Given the description of an element on the screen output the (x, y) to click on. 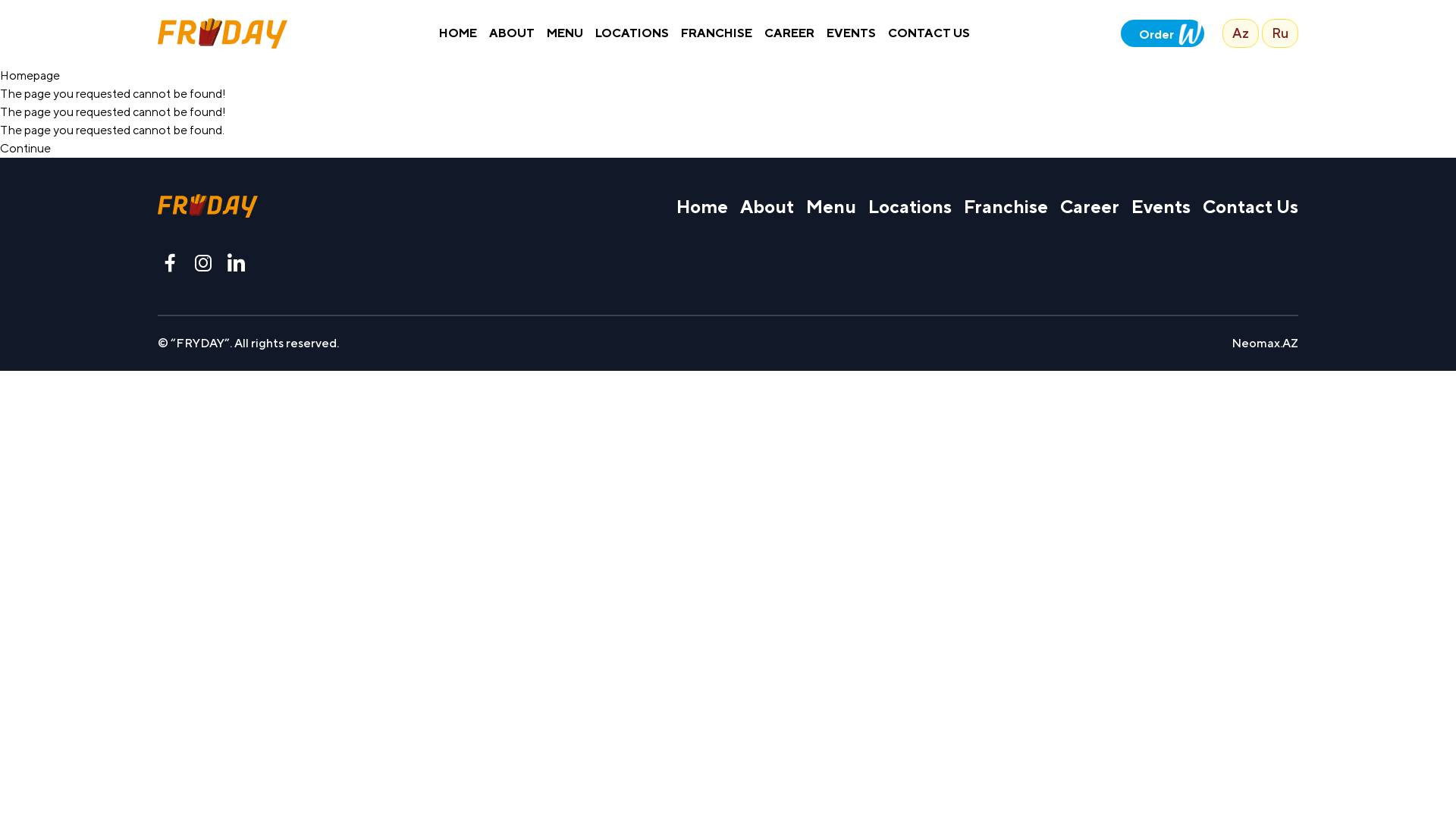
Az Element type: text (1240, 32)
LOCATIONS Element type: text (631, 32)
Locations Element type: text (909, 205)
MENU Element type: text (564, 32)
About Element type: text (766, 205)
CONTACT US Element type: text (928, 32)
Events Element type: text (1160, 205)
Career Element type: text (1089, 205)
Franchise Element type: text (1005, 205)
Ru Element type: text (1279, 32)
Home Element type: text (702, 205)
Homepage Element type: text (29, 75)
Contact Us Element type: text (1250, 205)
EVENTS Element type: text (850, 32)
The page you requested cannot be found! Element type: text (112, 93)
CAREER Element type: text (789, 32)
ABOUT Element type: text (511, 32)
HOME Element type: text (457, 32)
Continue Element type: text (25, 148)
Order Element type: text (1162, 33)
FRANCHISE Element type: text (716, 32)
Menu Element type: text (831, 205)
